Given the description of an element on the screen output the (x, y) to click on. 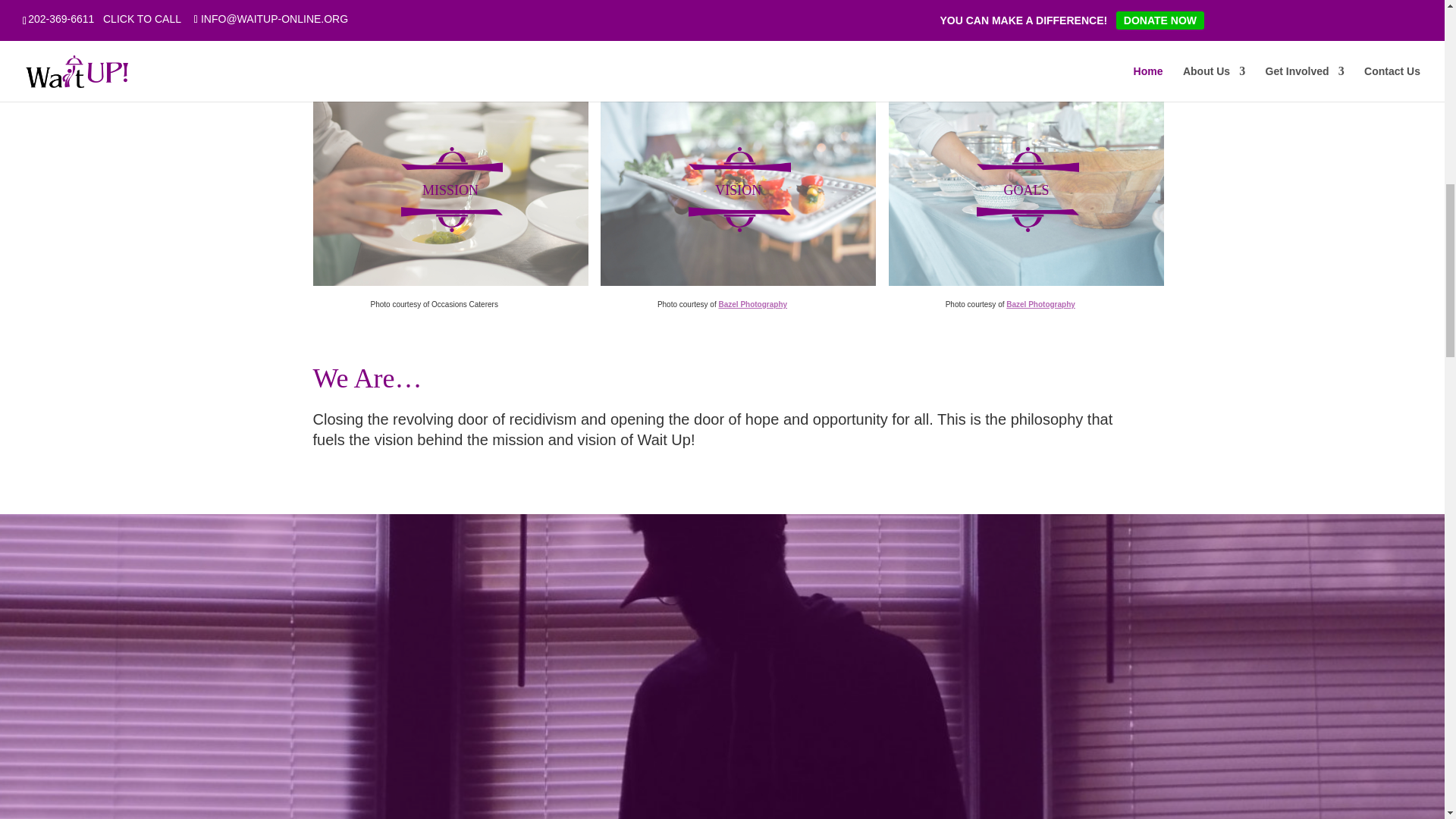
Bazel Photography (752, 304)
Bazel Photography (1040, 304)
GOALS (1009, 182)
MISSION (433, 182)
VISION (721, 182)
